Given the description of an element on the screen output the (x, y) to click on. 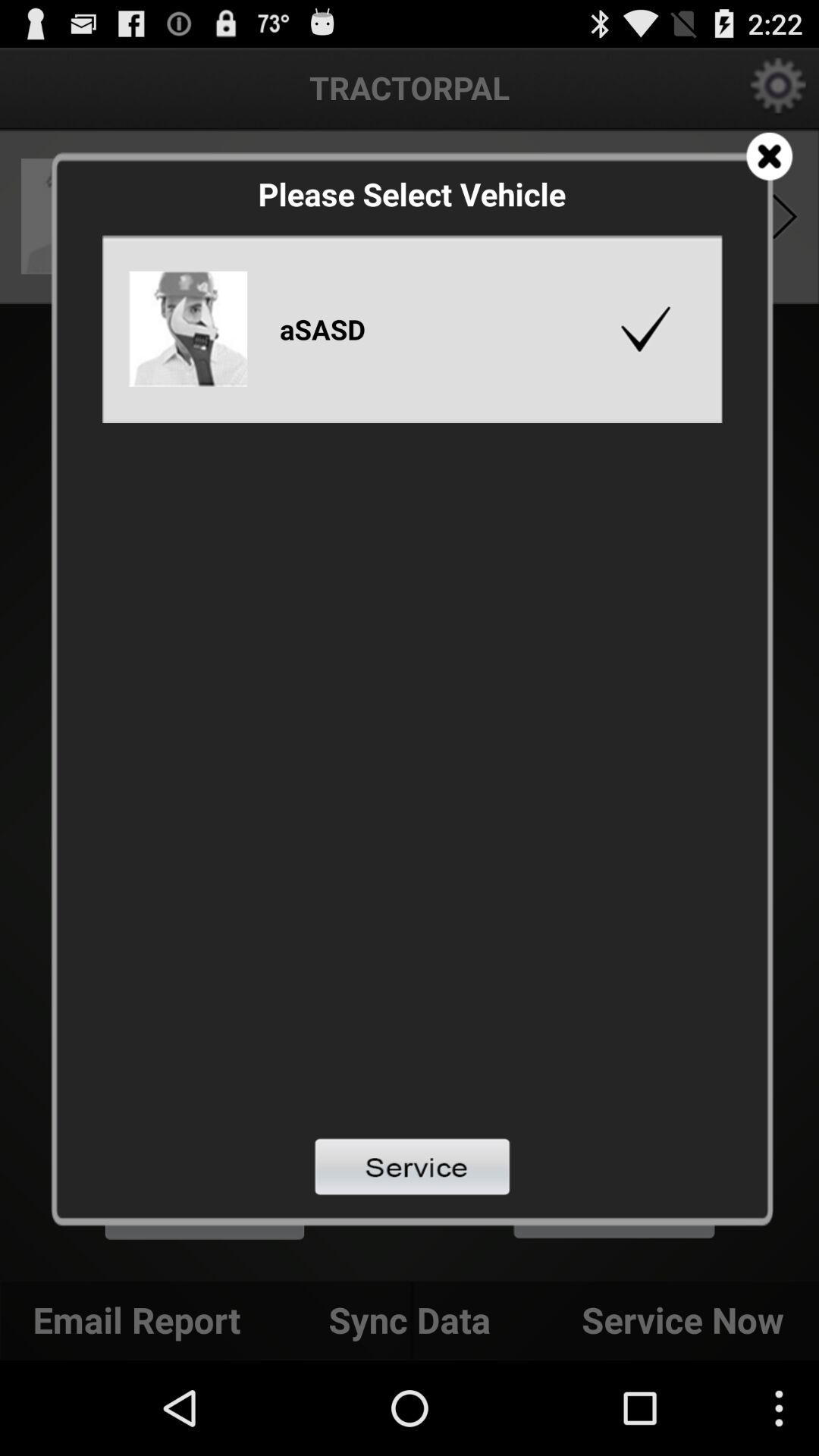
coupon (769, 156)
